Given the description of an element on the screen output the (x, y) to click on. 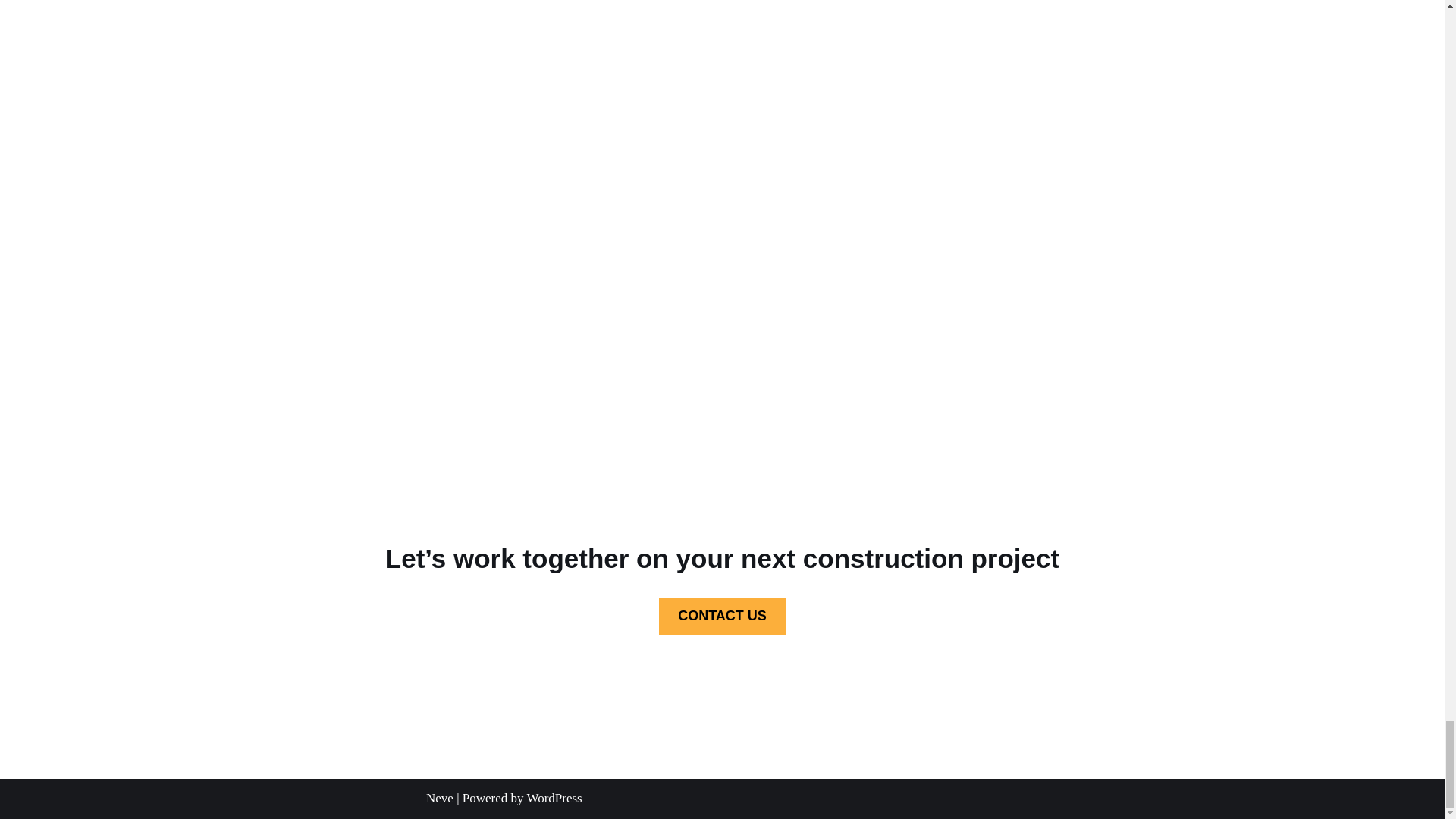
Neve (439, 798)
WordPress (552, 798)
CONTACT US (722, 615)
